Given the description of an element on the screen output the (x, y) to click on. 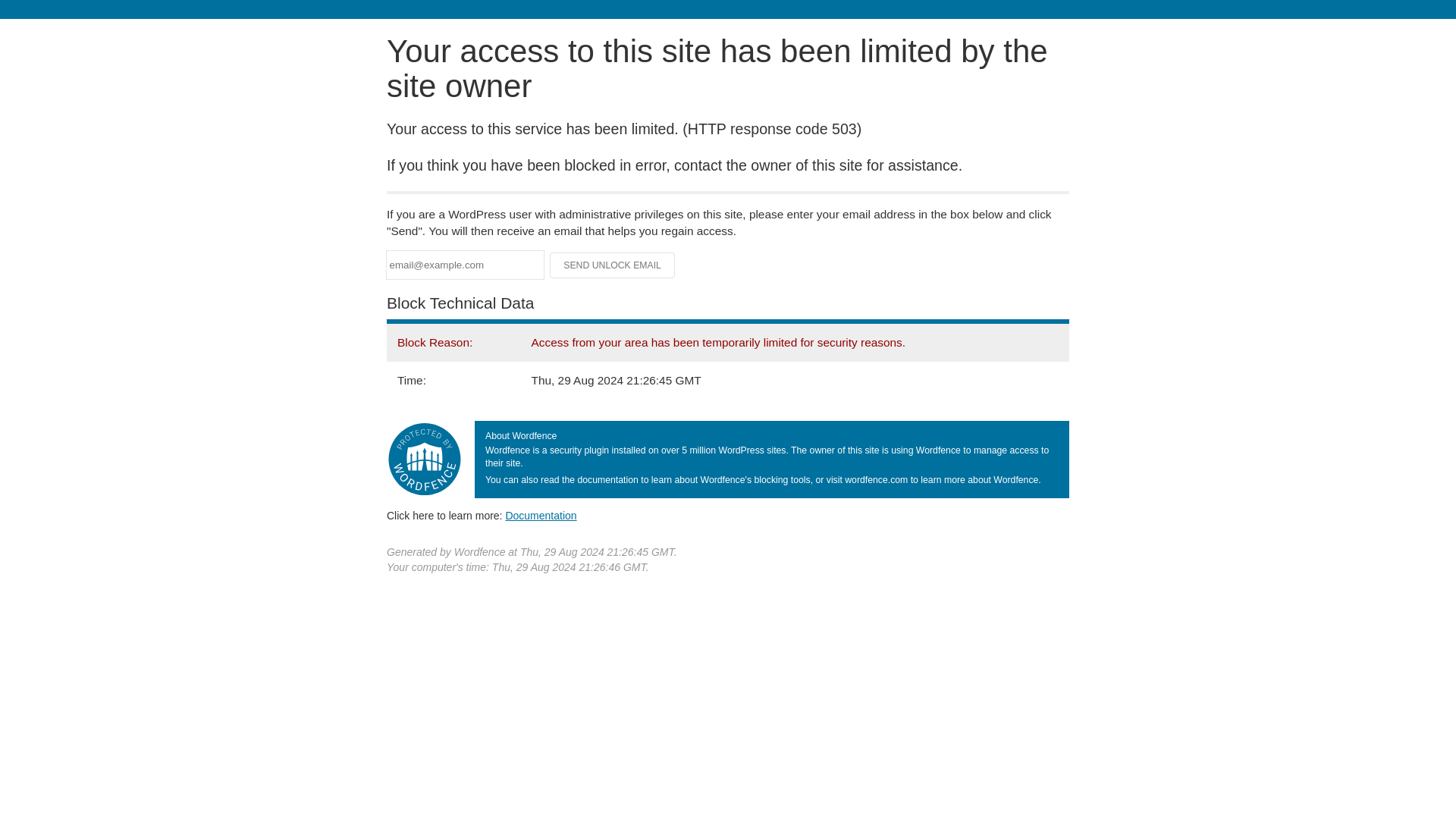
Documentation (540, 515)
Send Unlock Email (612, 265)
Send Unlock Email (612, 265)
